Given the description of an element on the screen output the (x, y) to click on. 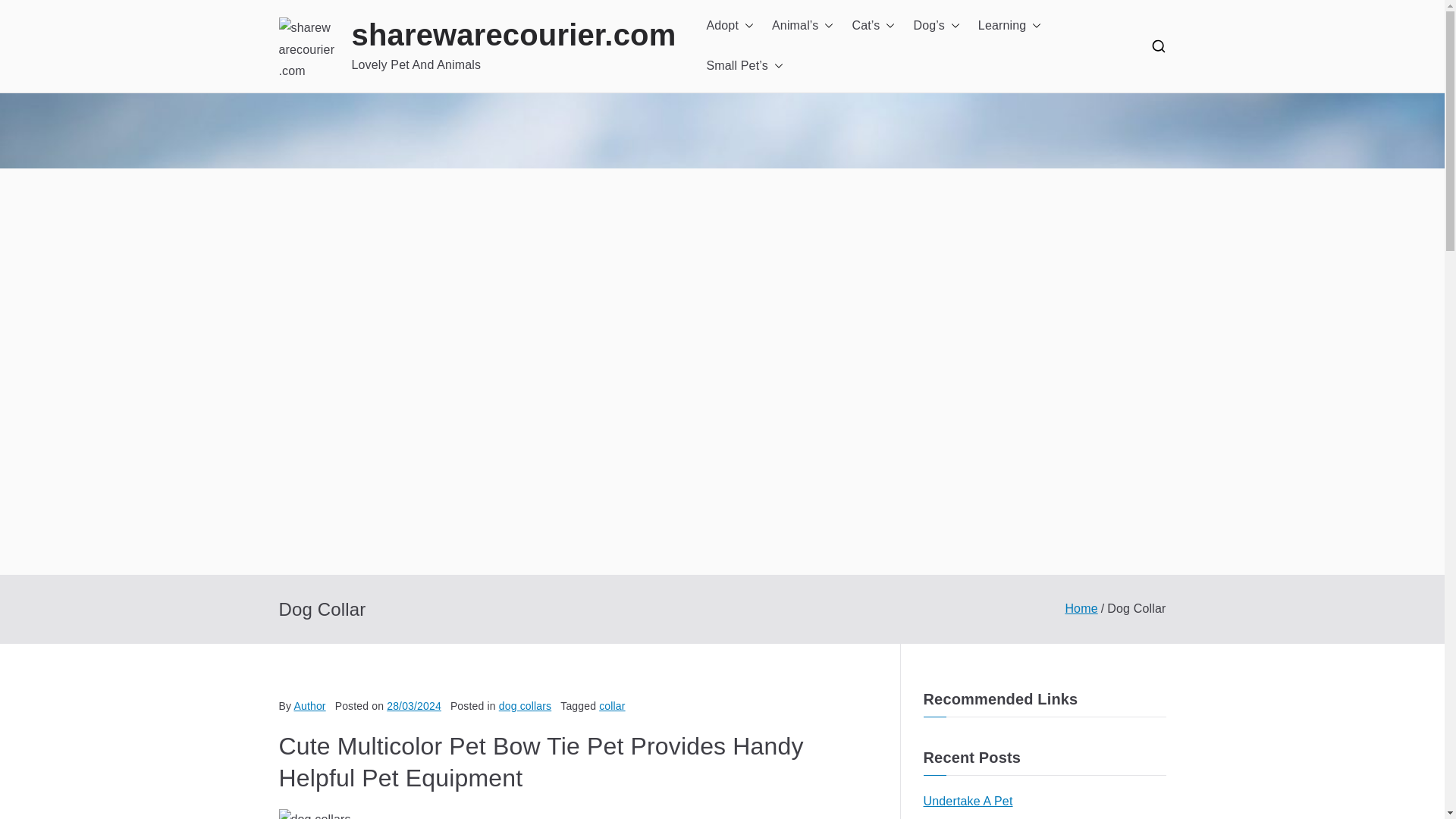
Learning (1010, 25)
sharewarecourier.com (514, 34)
Search (26, 12)
Adopt (730, 25)
